Given the description of an element on the screen output the (x, y) to click on. 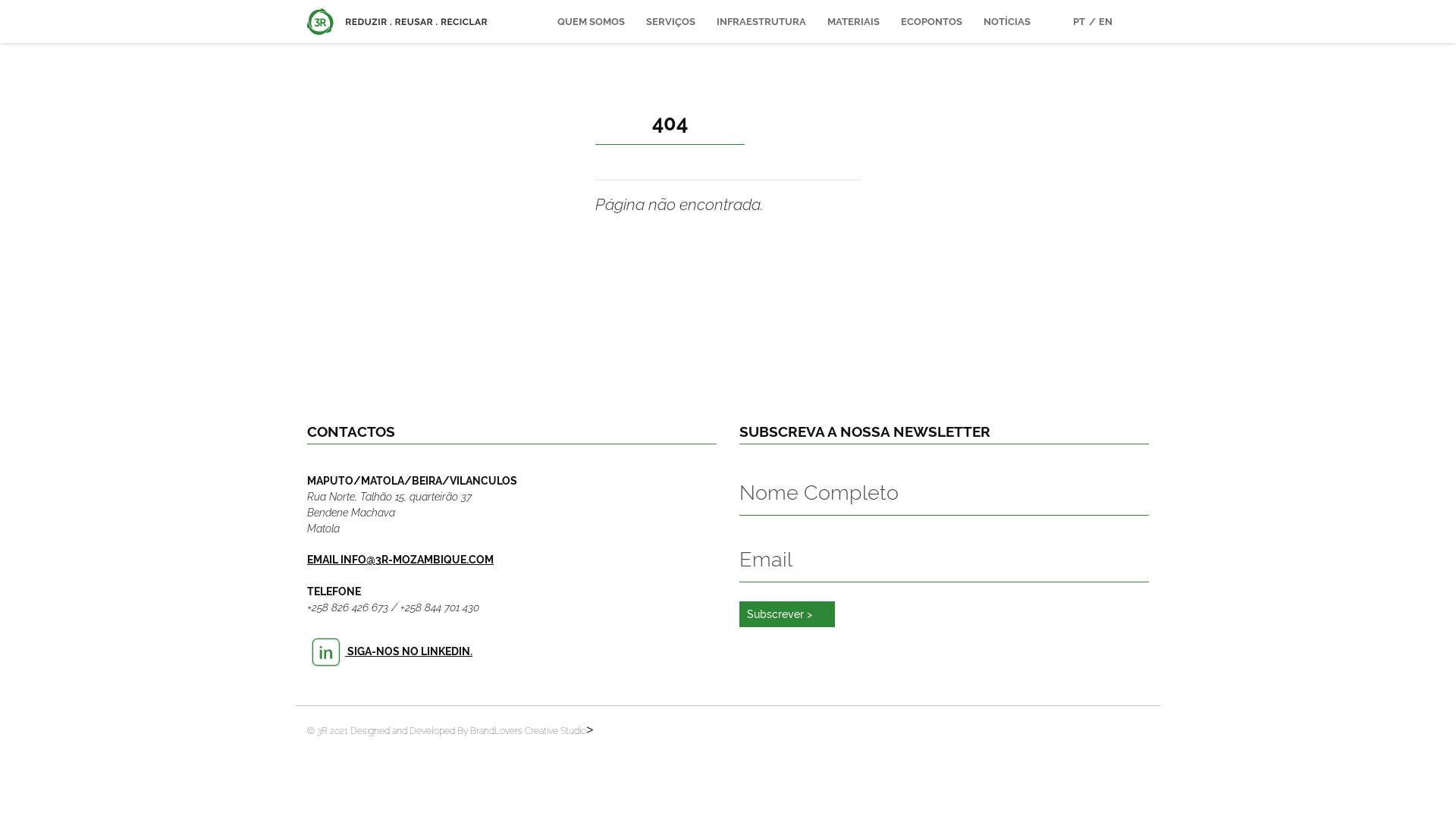
QUEM SOMOS Element type: text (593, 21)
EN Element type: text (1105, 21)
Subscrever > Element type: text (786, 614)
MATERIAIS Element type: text (856, 21)
BrandLovers Creative Studio Element type: text (528, 730)
/ Element type: text (1091, 21)
INFRAESTRUTURA Element type: text (764, 21)
PT Element type: text (1079, 21)
EMAIL INFO@3R-MOZAMBIQUE.COM Element type: text (400, 559)
ECOPONTOS Element type: text (934, 21)
SIGA-NOS NO LINKEDIN. Element type: text (389, 651)
